Given the description of an element on the screen output the (x, y) to click on. 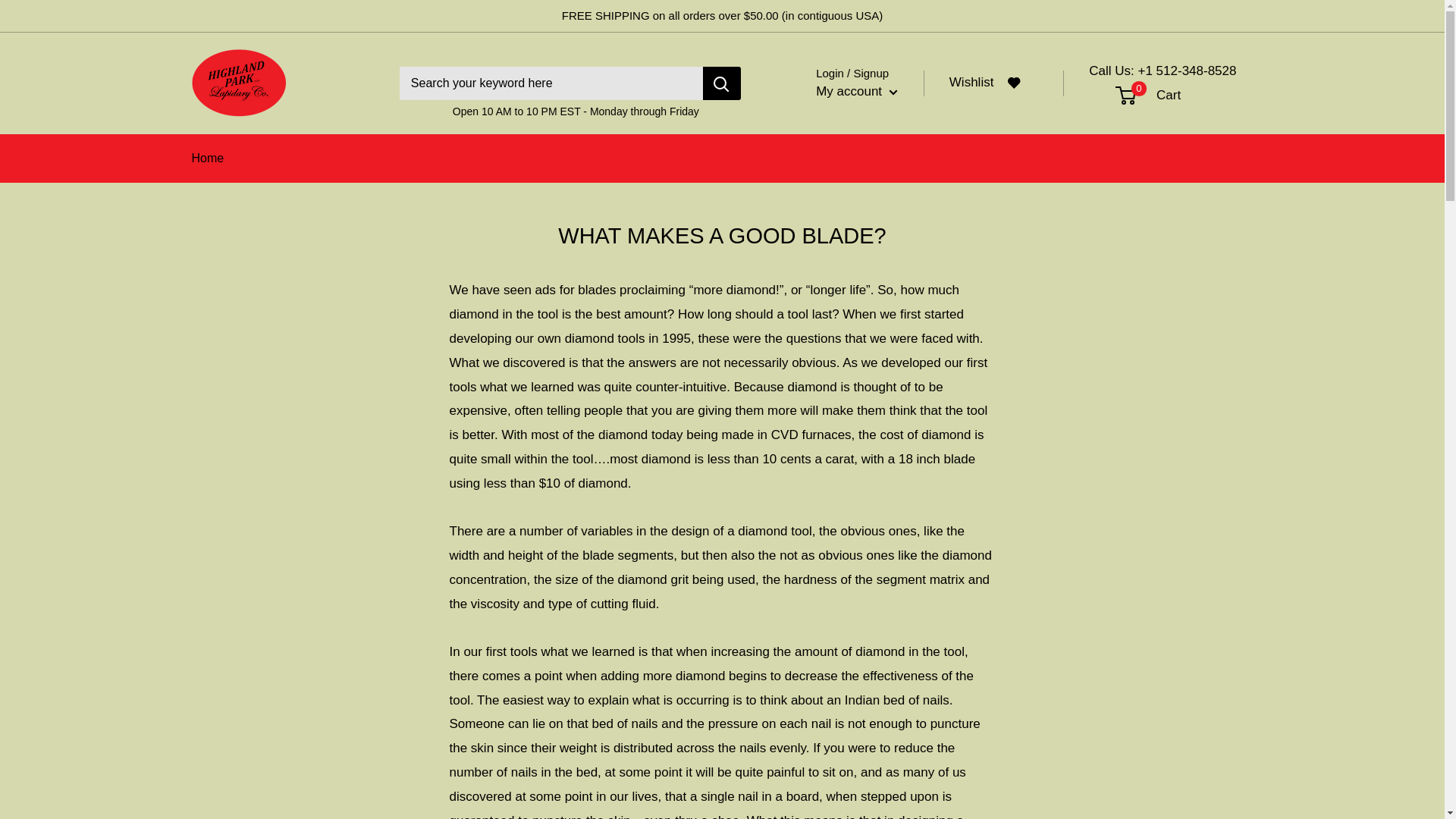
Wishlist     (993, 83)
My account (1184, 95)
Home (856, 91)
